Given the description of an element on the screen output the (x, y) to click on. 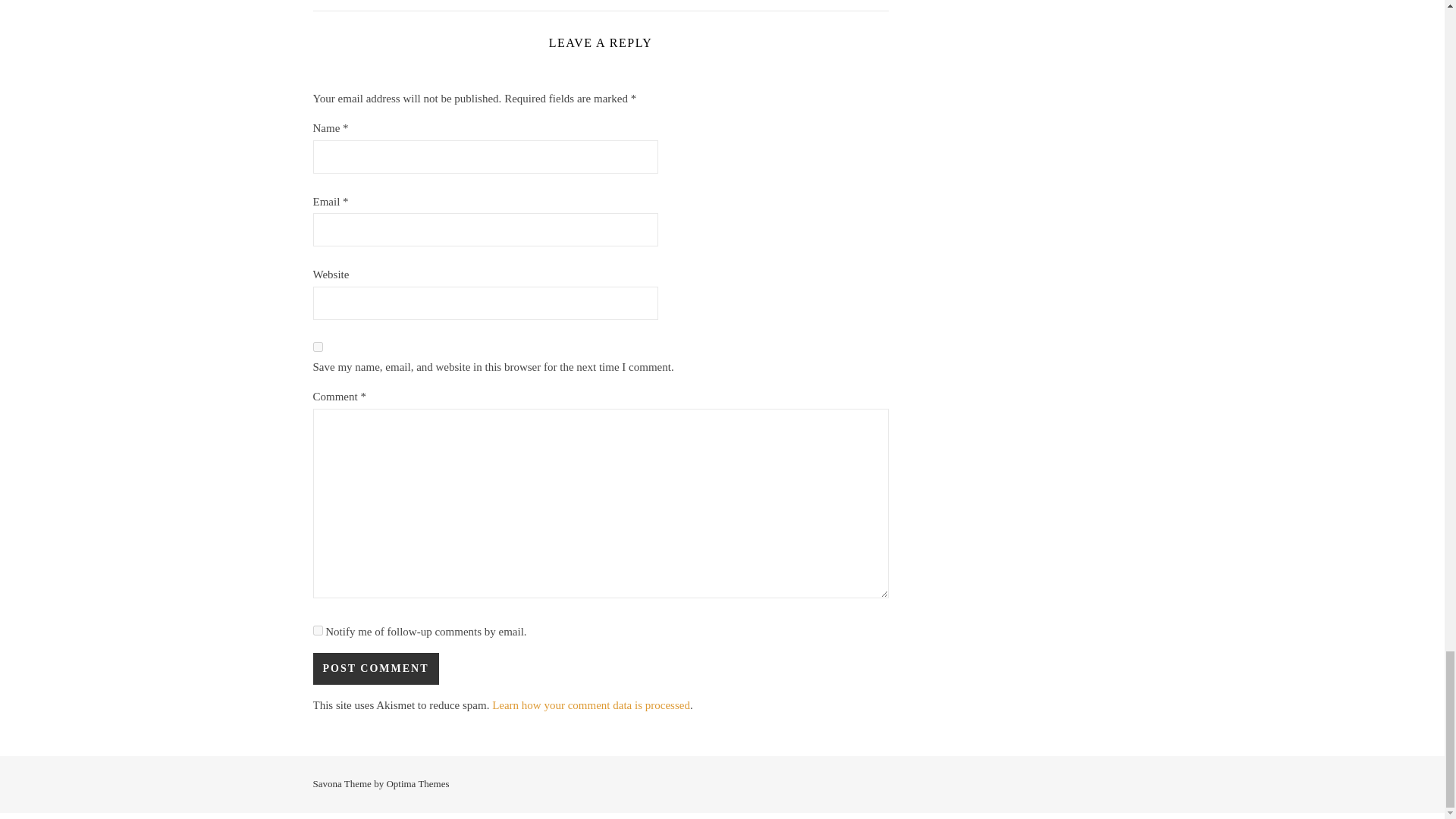
Post Comment (375, 668)
yes (317, 347)
subscribe (317, 630)
